Given the description of an element on the screen output the (x, y) to click on. 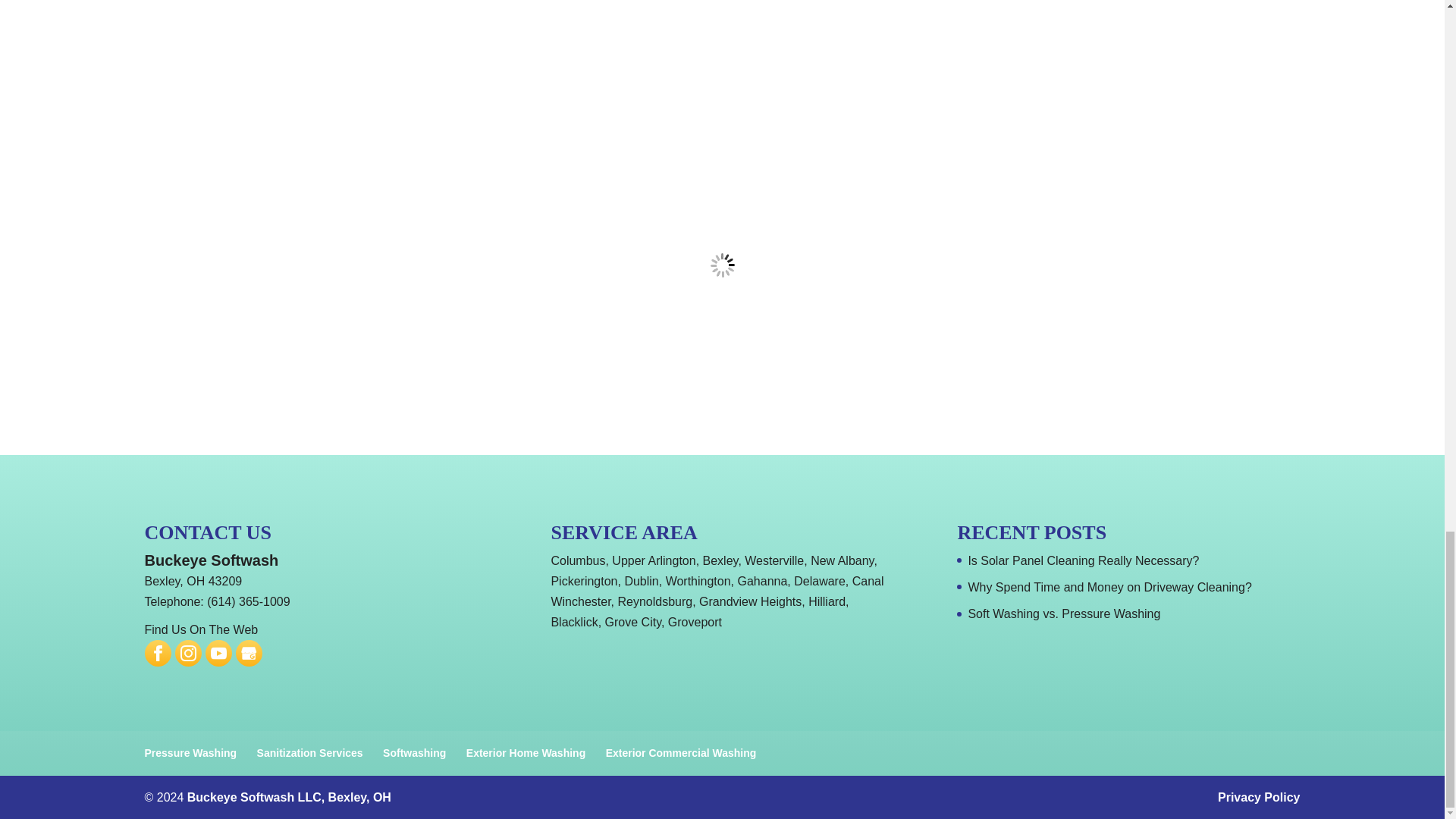
YouTube (218, 652)
Google My Business (248, 652)
Facebook (157, 652)
Facebook (157, 652)
Google My Business (249, 652)
Instagram (188, 652)
Instagram (187, 652)
YouTube (219, 652)
